Given the description of an element on the screen output the (x, y) to click on. 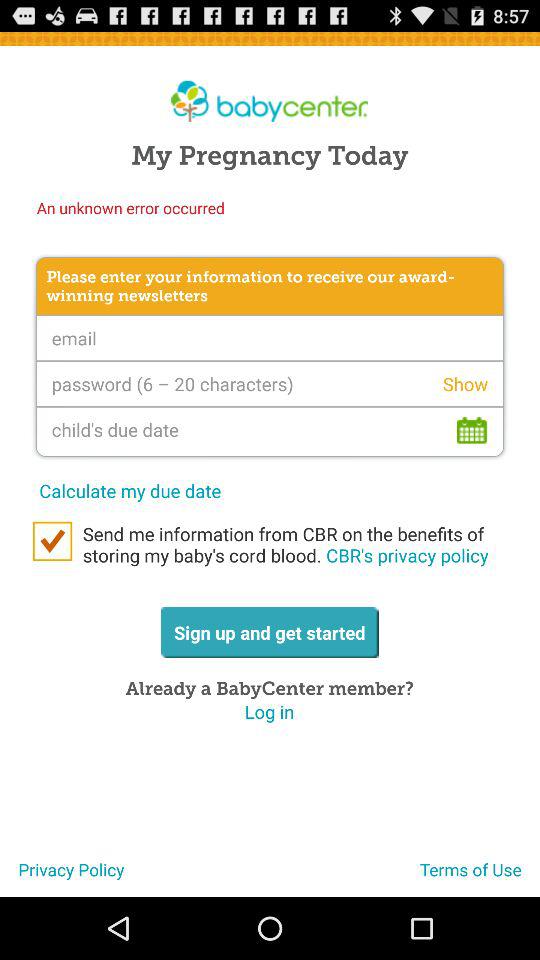
open the icon next to send me information app (52, 541)
